Given the description of an element on the screen output the (x, y) to click on. 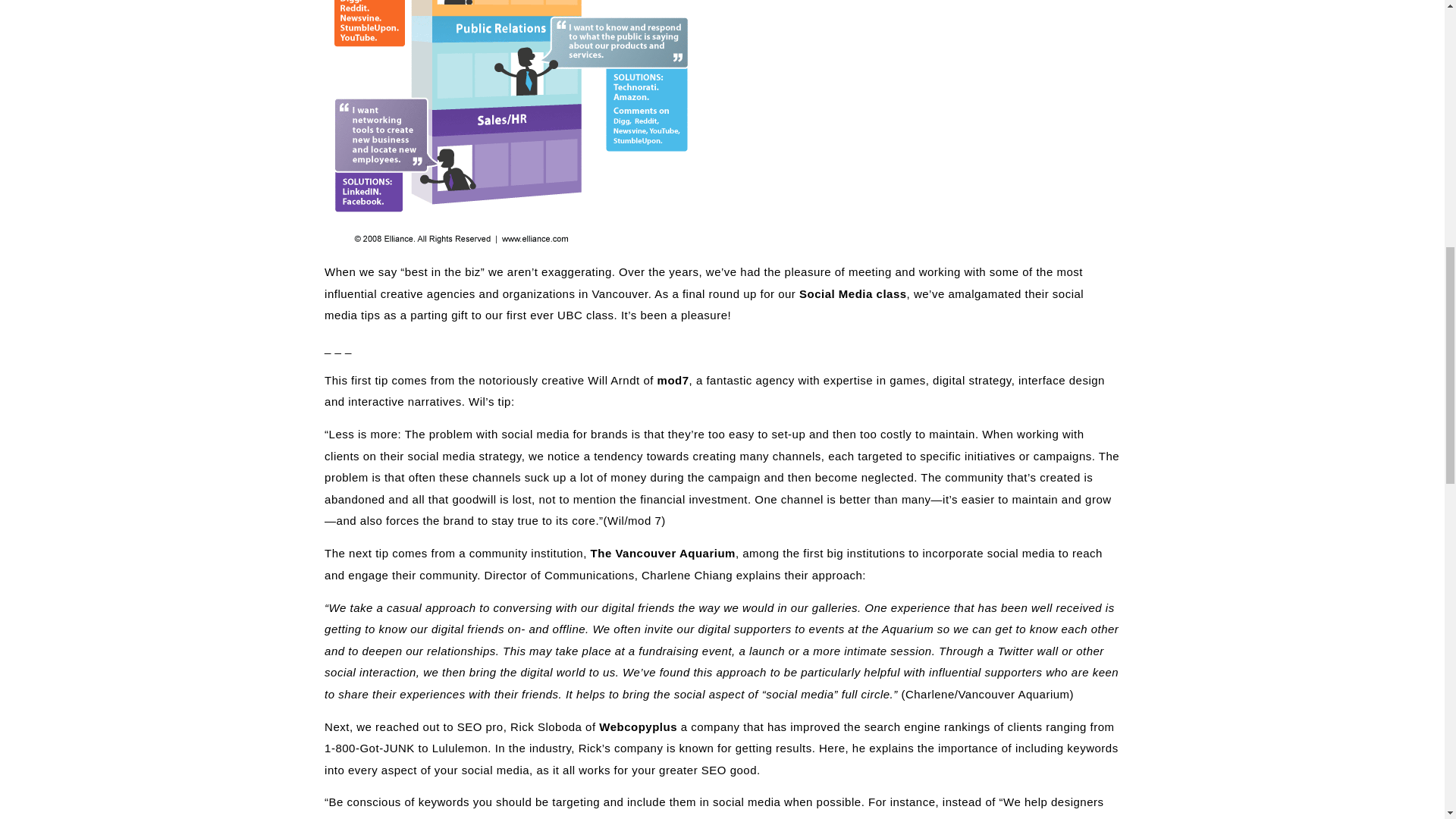
The Vancouver Aquarium (663, 553)
Webcopyplus (637, 726)
mod7 (673, 379)
social-media-building (513, 127)
Social Media class (853, 293)
